Given the description of an element on the screen output the (x, y) to click on. 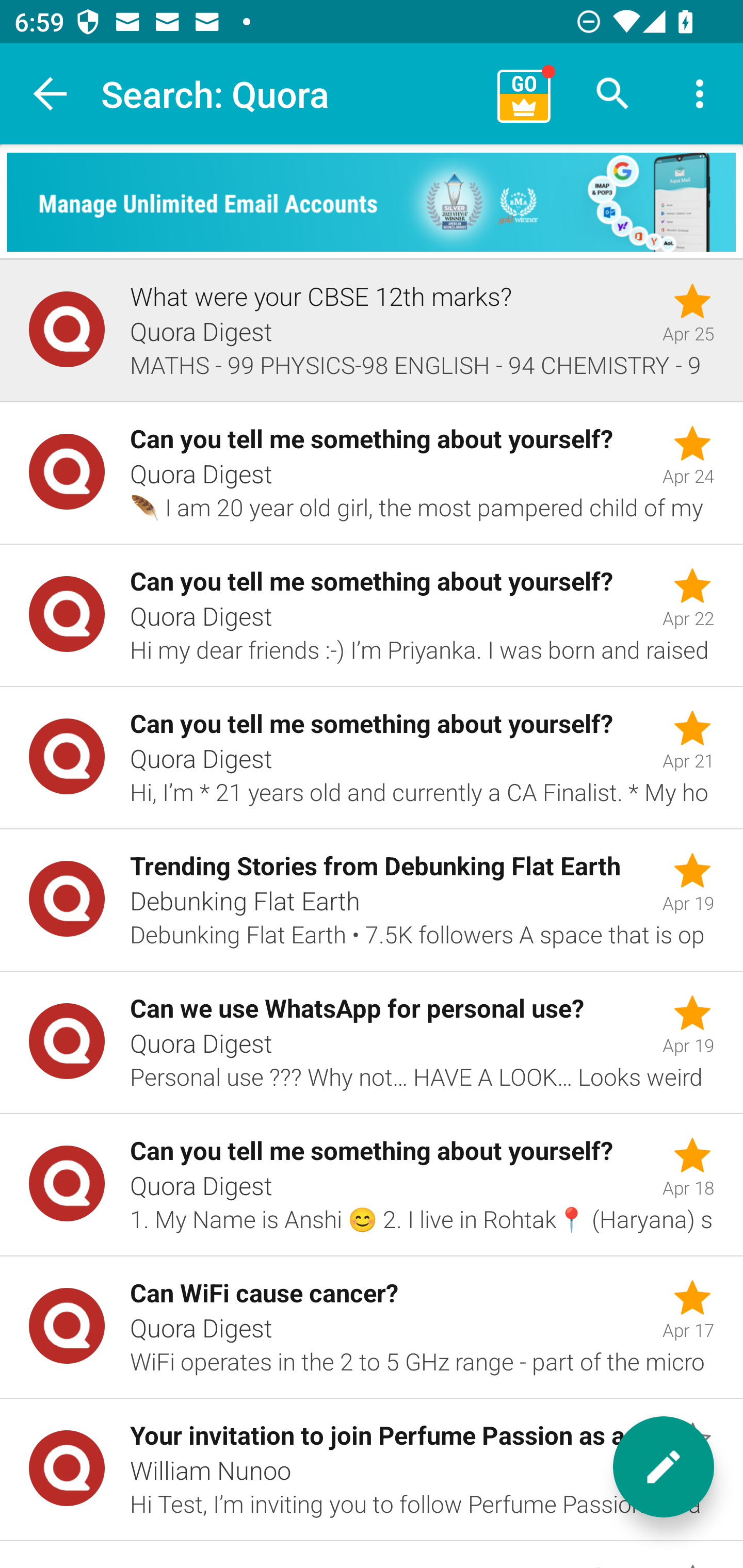
Navigate up (50, 93)
Search (612, 93)
More options (699, 93)
New message (663, 1466)
